Given the description of an element on the screen output the (x, y) to click on. 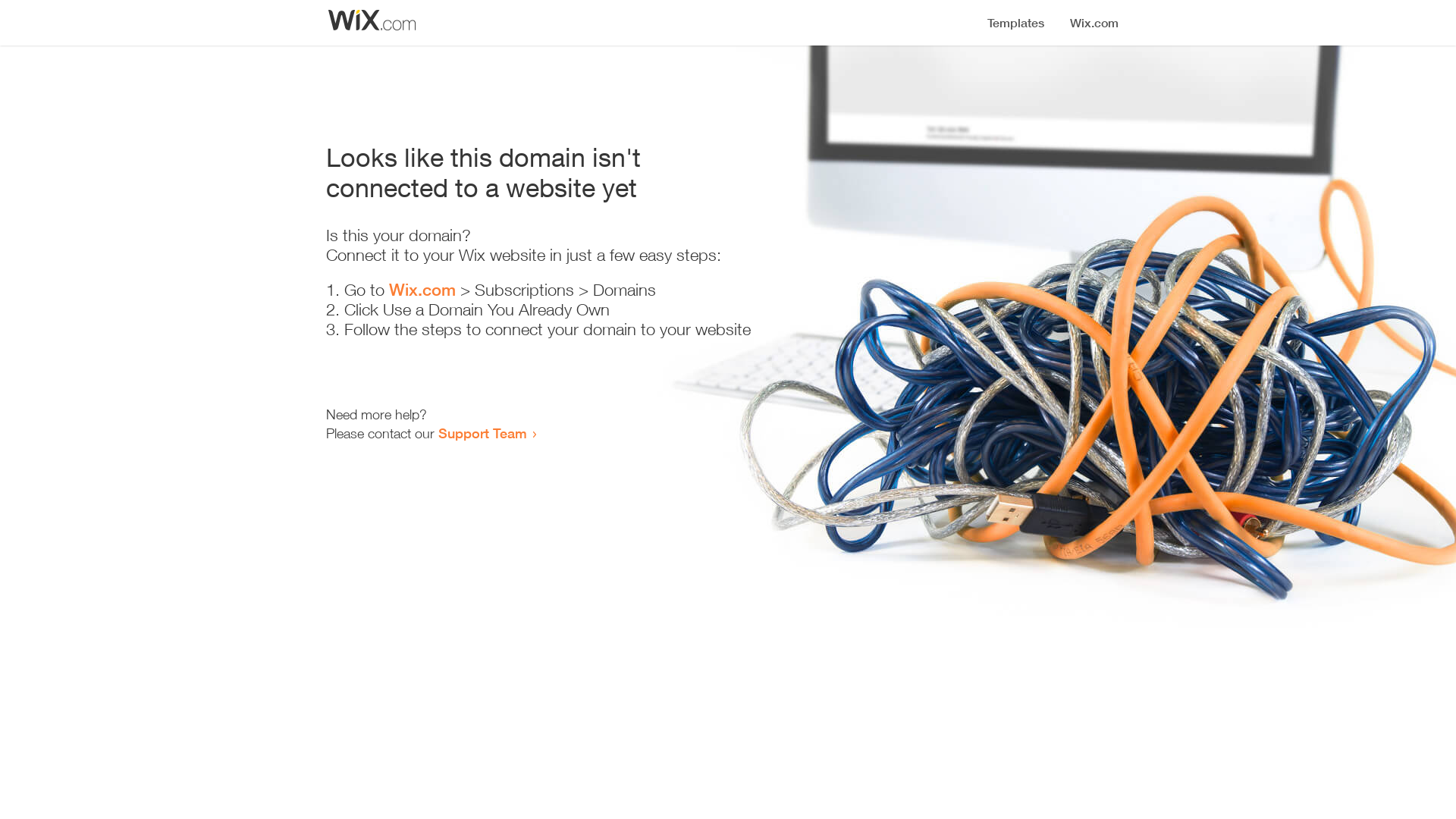
Support Team Element type: text (482, 432)
Wix.com Element type: text (422, 289)
